Given the description of an element on the screen output the (x, y) to click on. 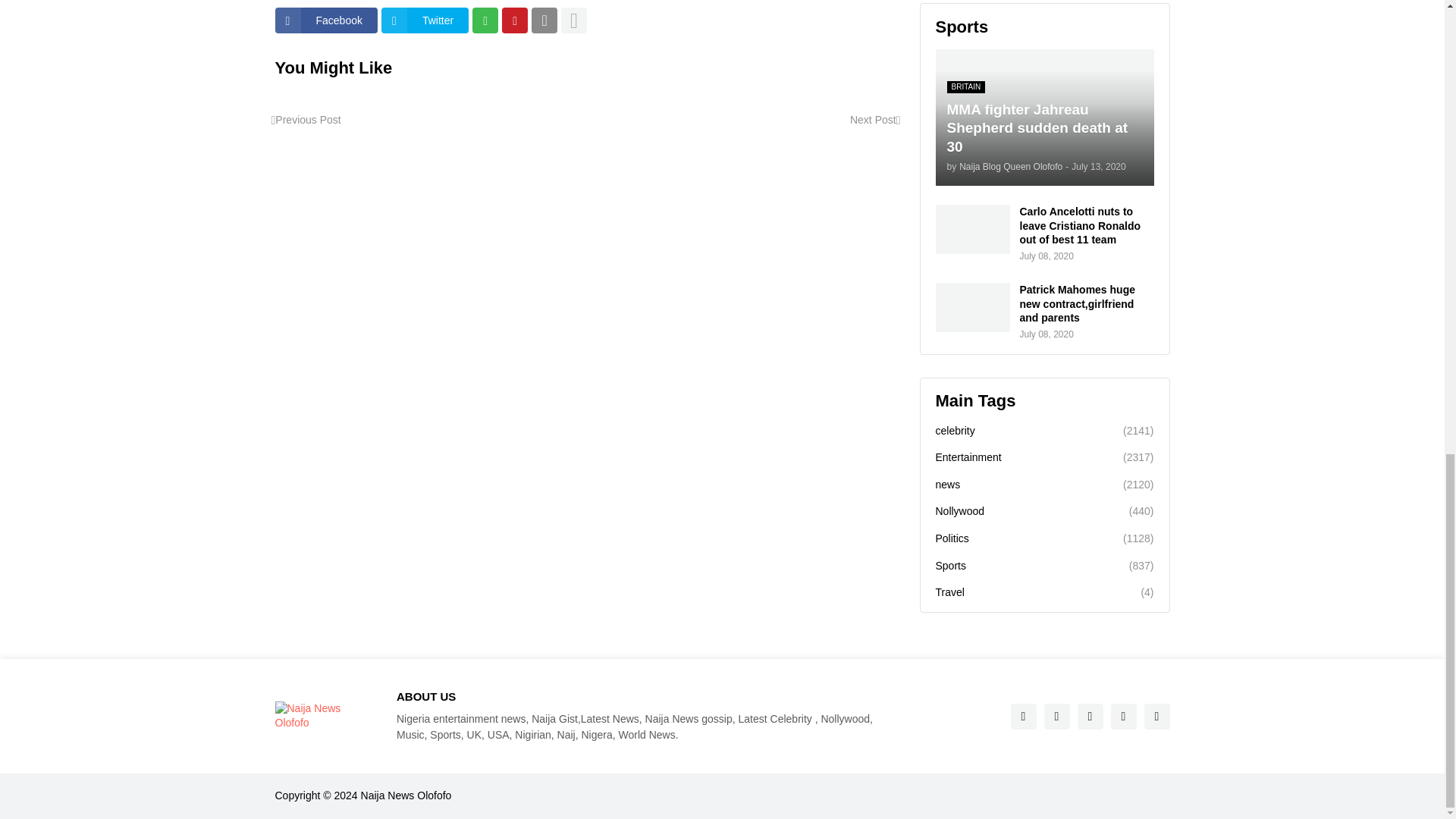
Pinterest (514, 20)
Next Post (875, 120)
Facebook (326, 20)
Twitter (424, 20)
Previous Post (305, 120)
Twitter (424, 20)
Facebook (326, 20)
WhatsApp (484, 20)
